Given the description of an element on the screen output the (x, y) to click on. 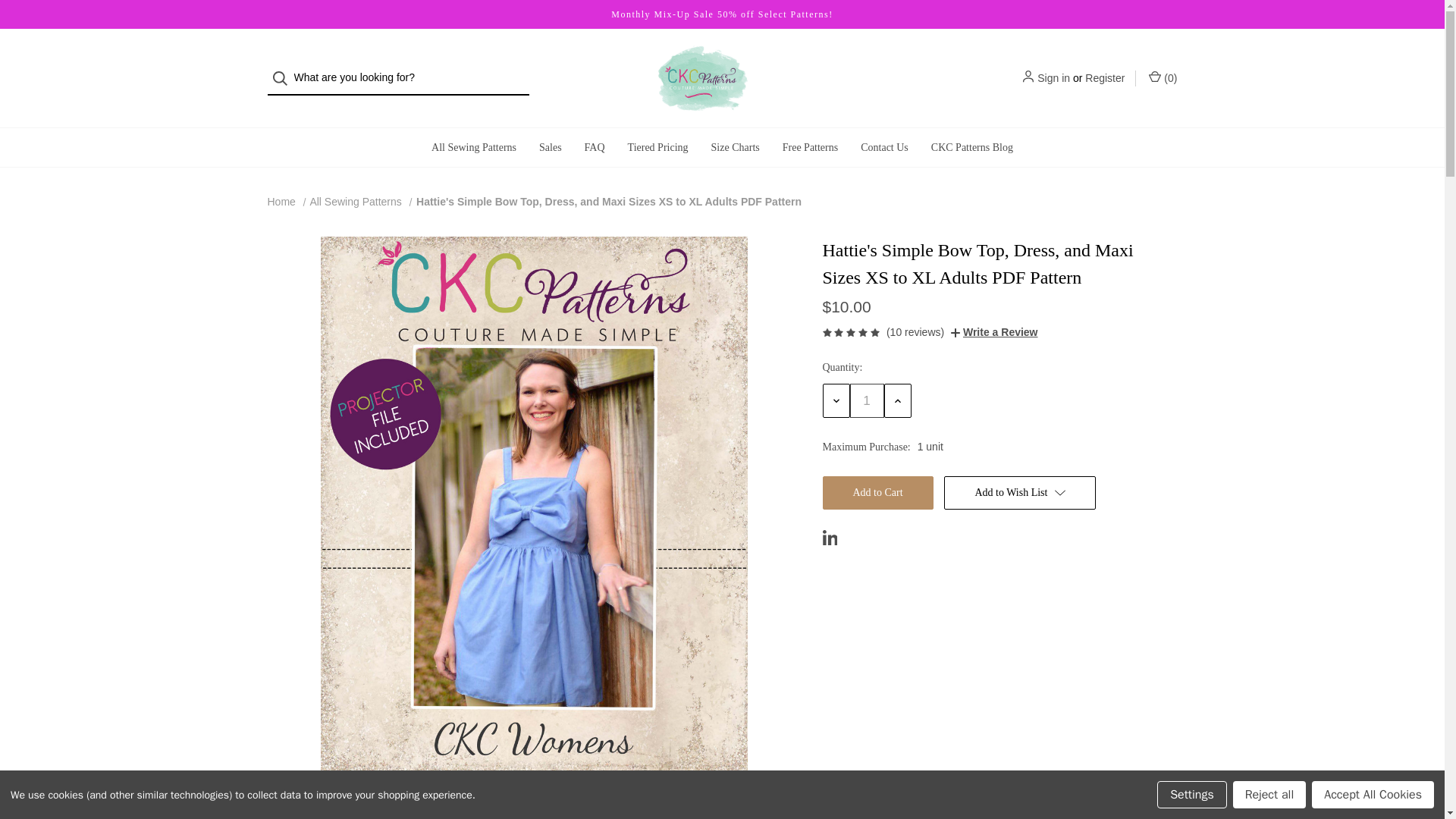
1 (865, 400)
Sales (550, 147)
CKC Patterns Blog (972, 147)
Tiered Pricing (657, 147)
All Sewing Patterns (354, 201)
Free Patterns (809, 147)
